Given the description of an element on the screen output the (x, y) to click on. 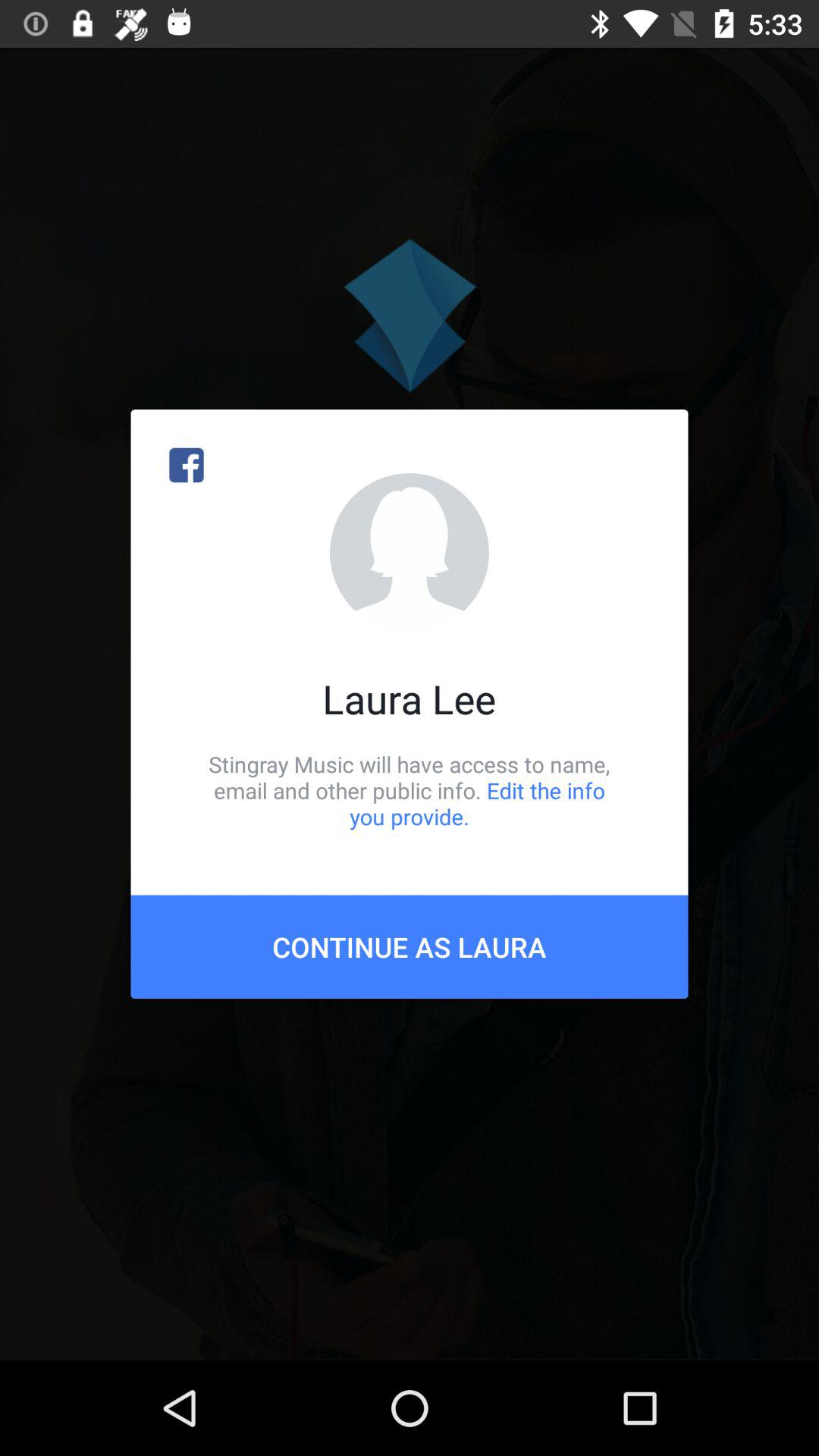
jump to the continue as laura item (409, 946)
